Given the description of an element on the screen output the (x, y) to click on. 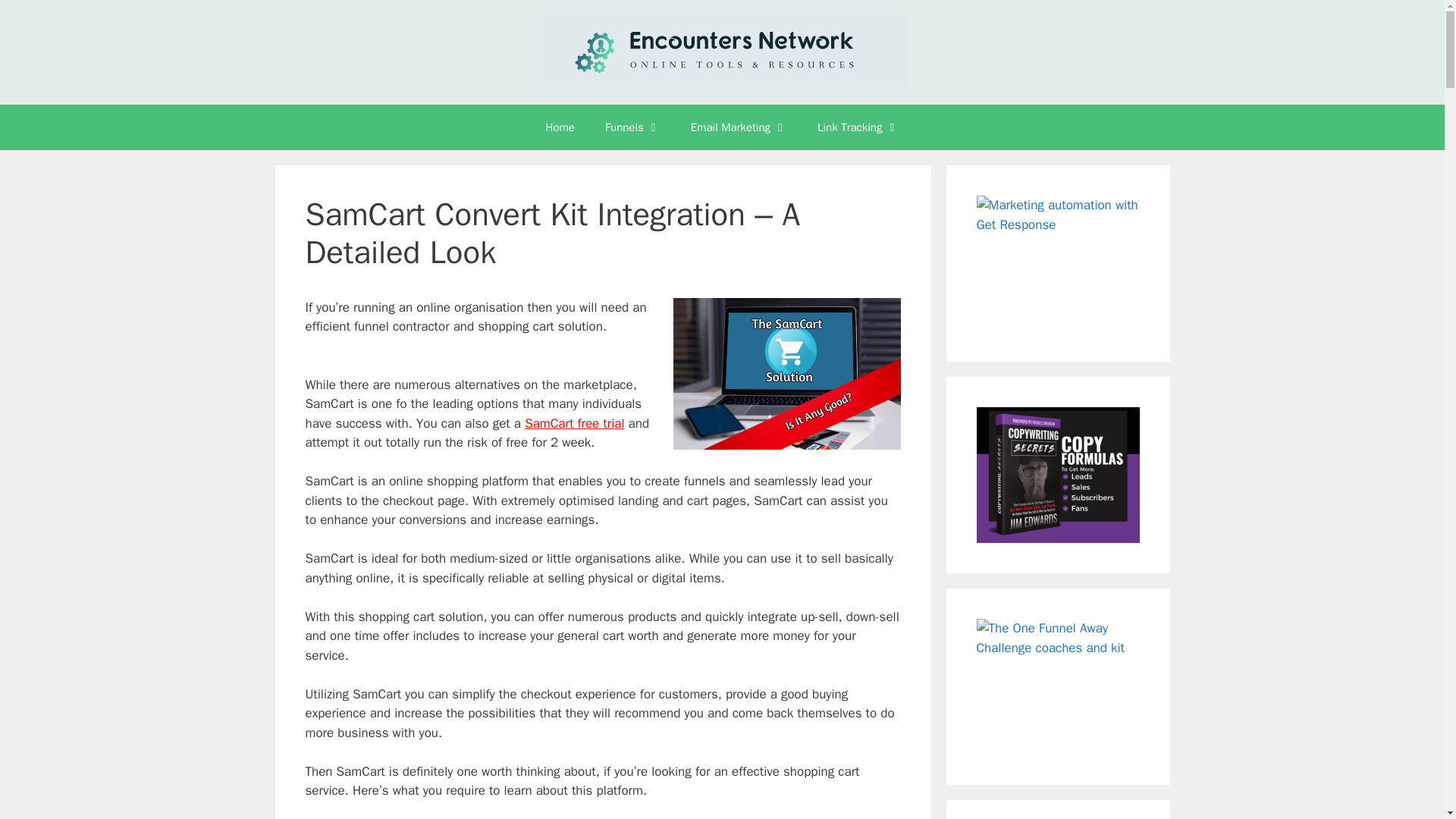
Home (560, 126)
Link Tracking (858, 126)
SamCart free trial (574, 423)
Funnels (632, 126)
Email Marketing (738, 126)
